Given the description of an element on the screen output the (x, y) to click on. 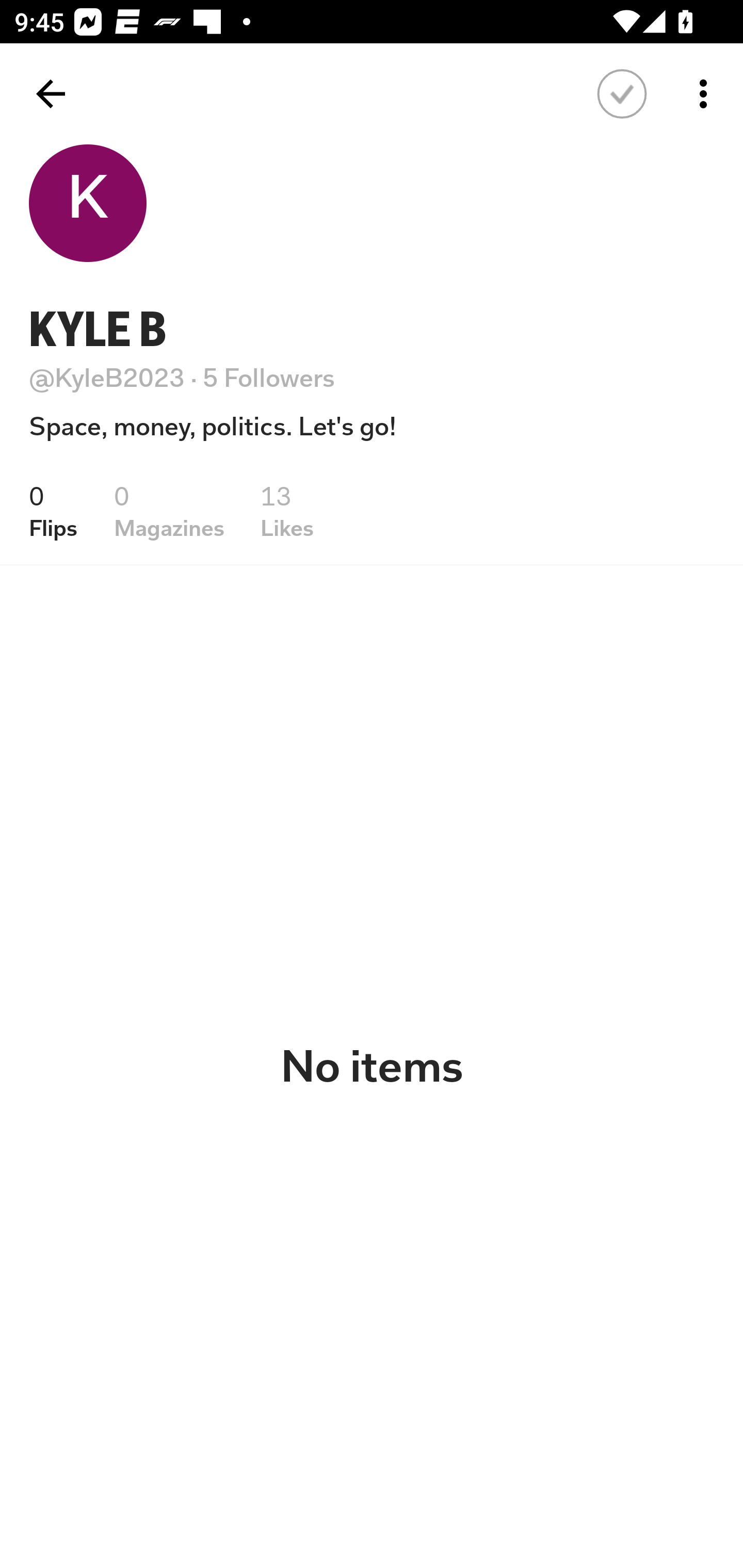
Back (50, 93)
More options (706, 93)
Following (622, 93)
KYLE B (97, 328)
@KyleB2023 (106, 377)
5 Followers (268, 377)
0 Flips (53, 510)
0 Magazines (168, 510)
13 Likes (287, 510)
